Given the description of an element on the screen output the (x, y) to click on. 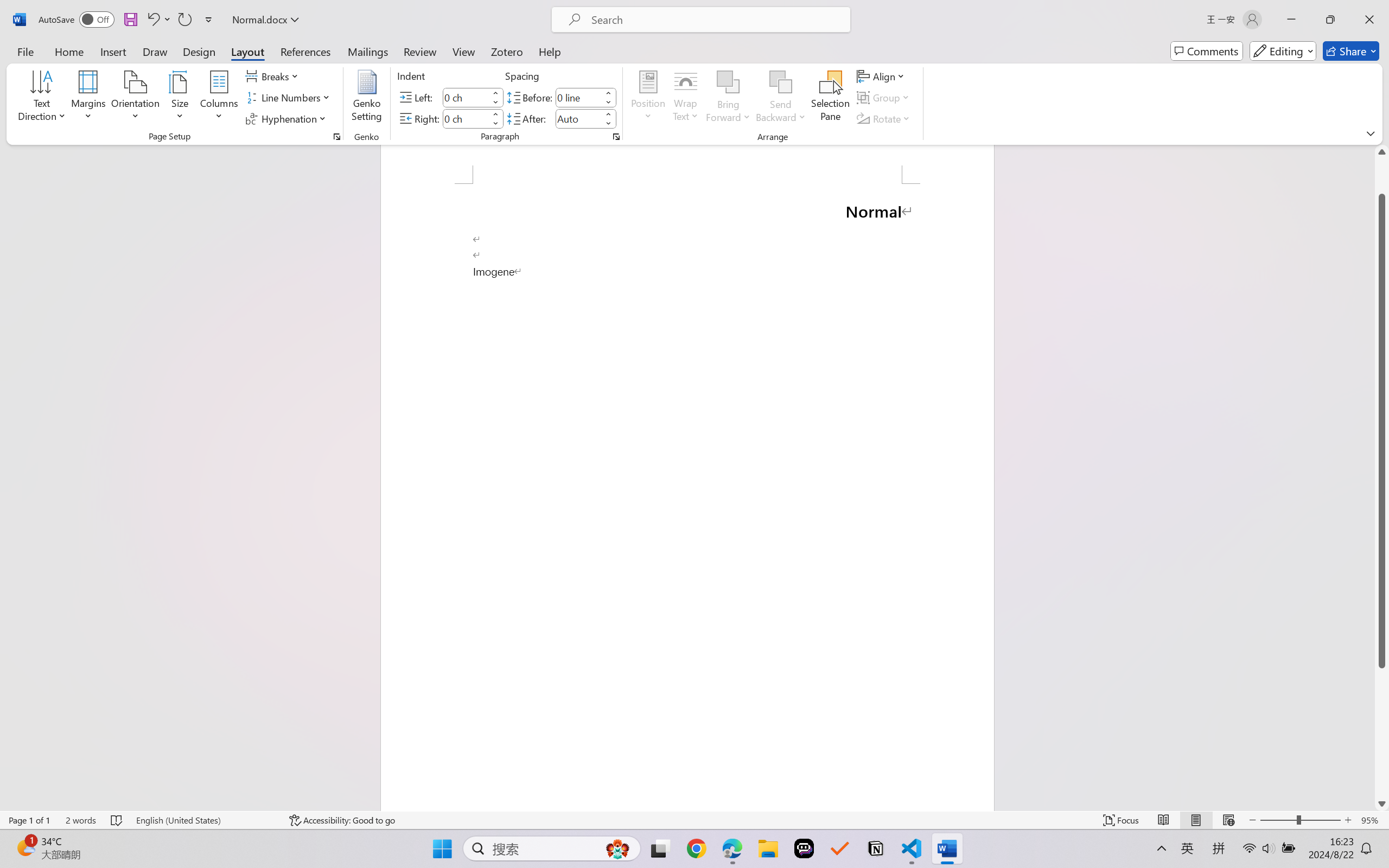
Repeat Paragraph Formatting (184, 19)
Bring Forward (728, 81)
Breaks (273, 75)
More (608, 113)
Position (647, 97)
Undo Paragraph Formatting (158, 19)
